Given the description of an element on the screen output the (x, y) to click on. 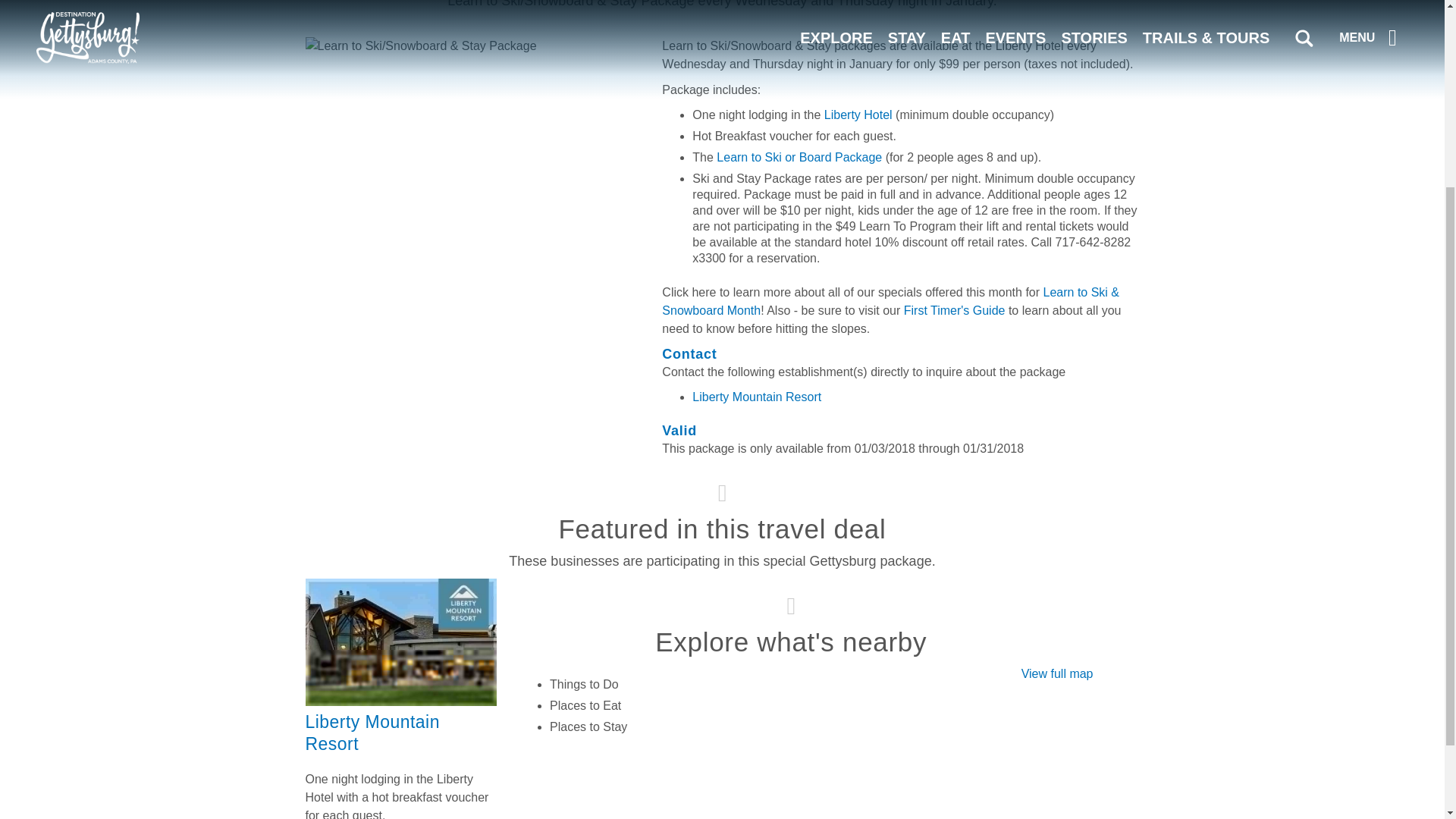
Read about Liberty Mountain Resort (371, 732)
Read about Liberty Mountain Resort (400, 701)
View entire Gettysburg PA map (1057, 673)
